Given the description of an element on the screen output the (x, y) to click on. 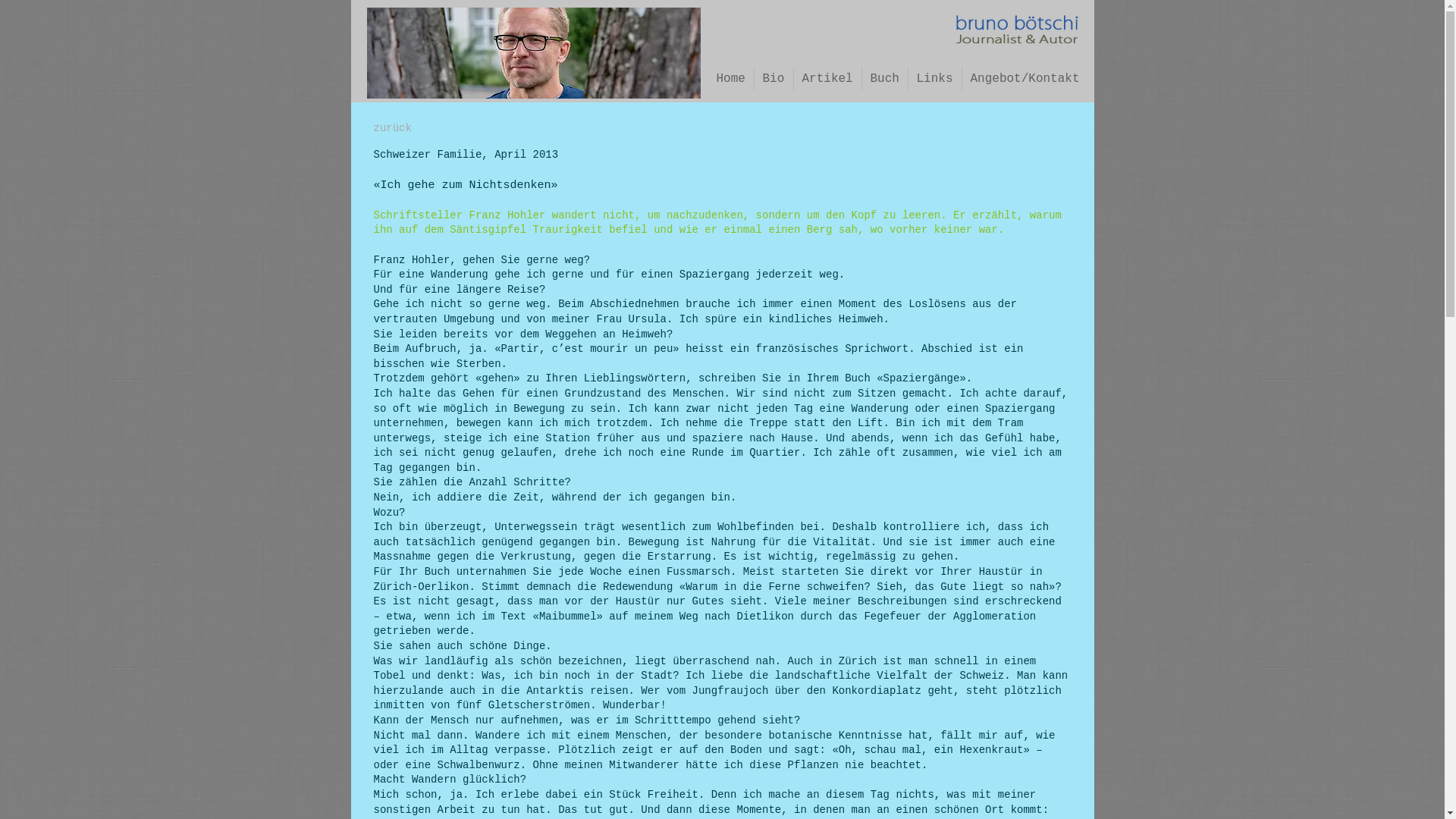
Artikel Element type: text (826, 78)
Buch Element type: text (883, 78)
Bio Element type: text (772, 78)
Links Element type: text (934, 78)
Angebot/Kontakt Element type: text (1024, 78)
Home Element type: text (730, 78)
